Given the description of an element on the screen output the (x, y) to click on. 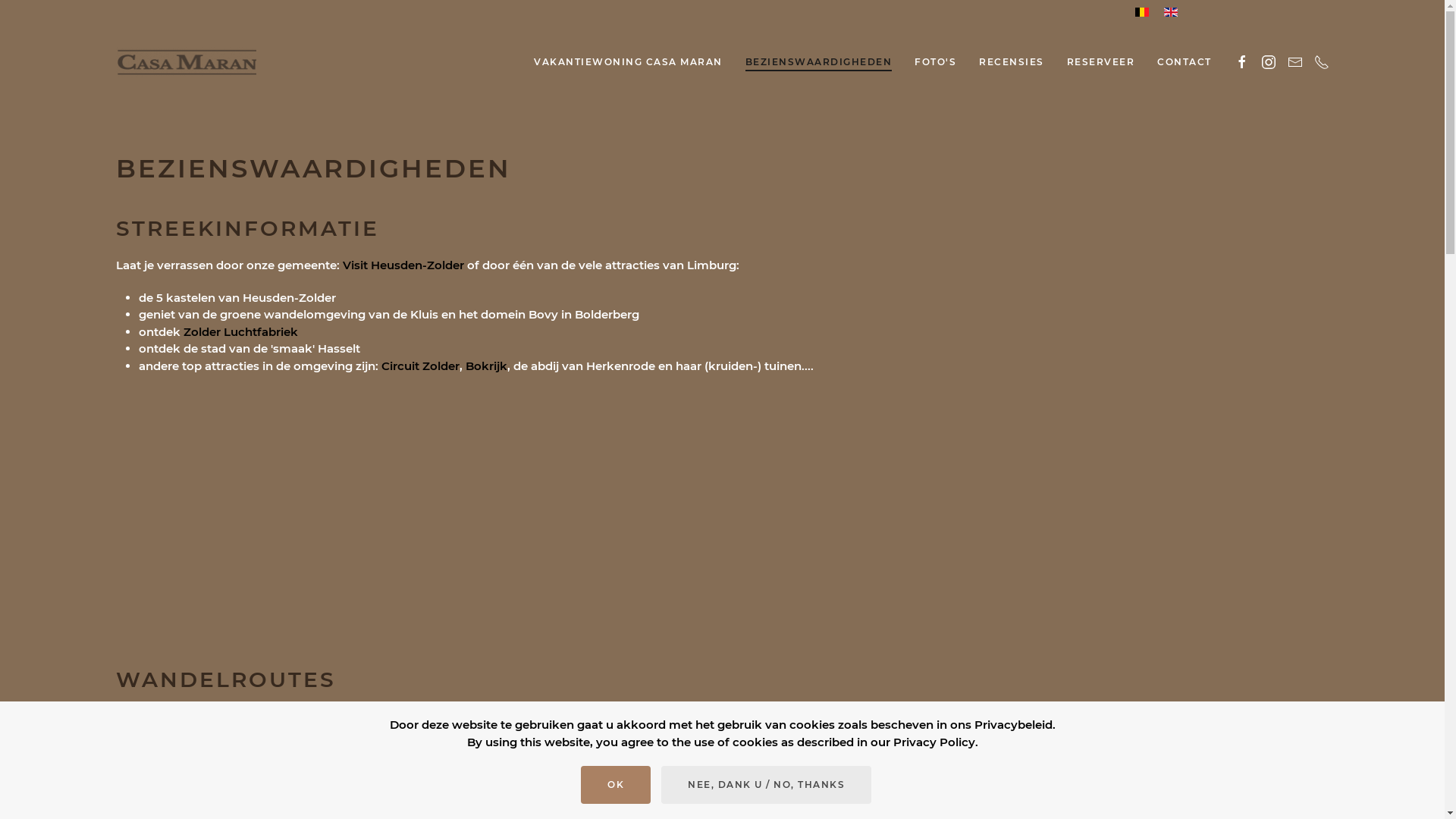
CONTACT Element type: text (1184, 62)
Zolder Luchtfabriek Element type: text (240, 331)
De Wijers Element type: text (499, 716)
Bokrijk Element type: text (486, 365)
FOTO'S Element type: text (935, 62)
NEE, DANK U / NO, THANKS Element type: text (766, 784)
Nederlands Element type: hover (1141, 11)
Circuit Zolder, Element type: text (420, 365)
VAKANTIEWONING CASA MARAN Element type: text (628, 62)
Wandeling De Mangelbeek Element type: text (215, 797)
BEZIENSWAARDIGHEDEN Element type: text (818, 62)
English (United Kingdom) Element type: hover (1169, 11)
OK Element type: text (615, 784)
Visit Heusden-Zolder Element type: text (403, 264)
RESERVEER Element type: text (1100, 62)
RECENSIES Element type: text (1011, 62)
